Given the description of an element on the screen output the (x, y) to click on. 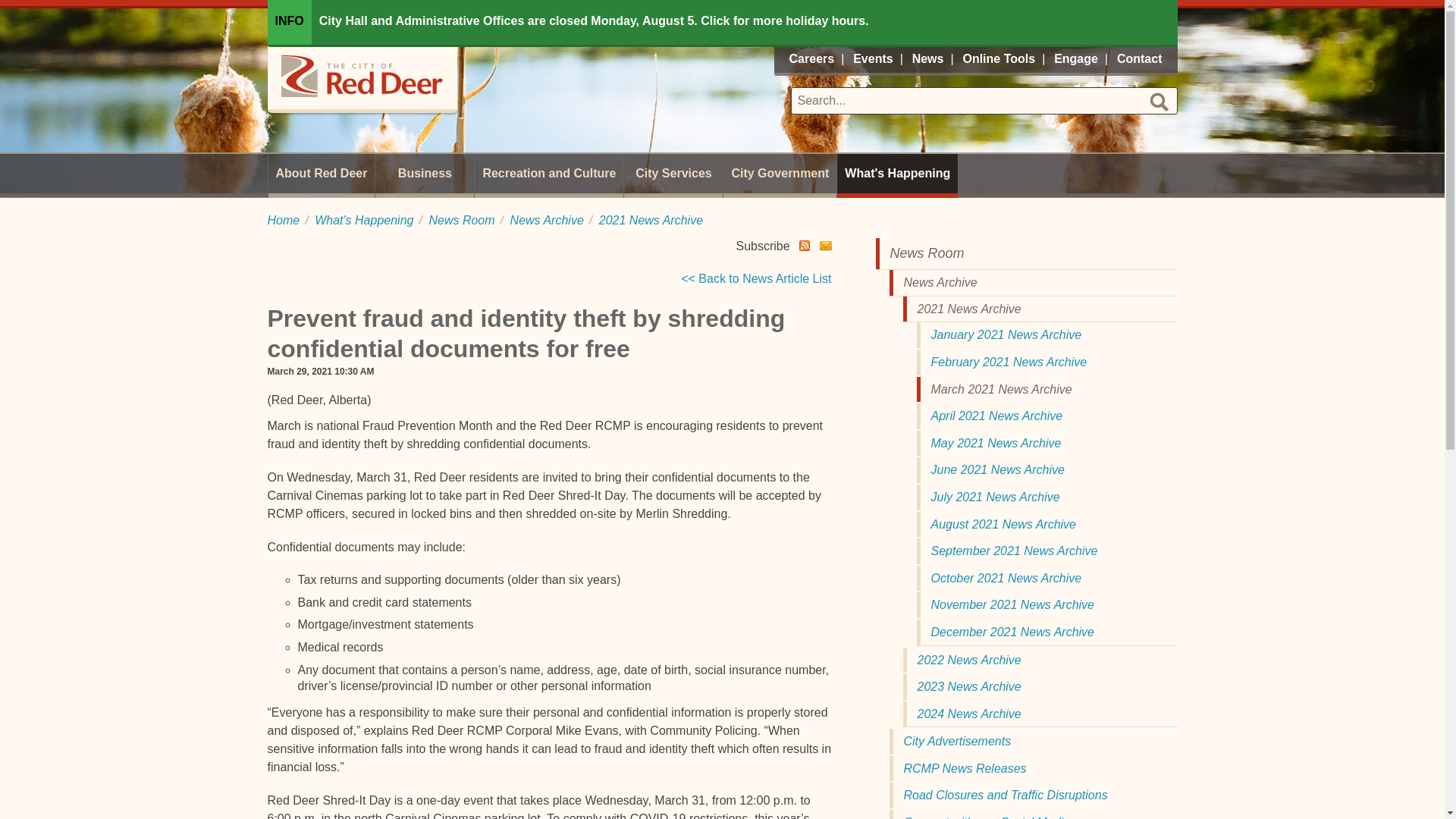
2023 News Archive (1039, 687)
2022 News Archive (1039, 660)
search (1158, 101)
August 2021 News Archive (1045, 524)
December 2021 News Archive (1045, 632)
News Room (461, 219)
News Archive (547, 219)
July 2021 News Archive (1045, 497)
April 2021 News Archive (1045, 416)
February 2021 News Archive (1045, 362)
Home (282, 219)
March 2021 News Archive (1045, 389)
November 2021 News Archive (1045, 605)
January 2021 News Archive (1045, 335)
